Given the description of an element on the screen output the (x, y) to click on. 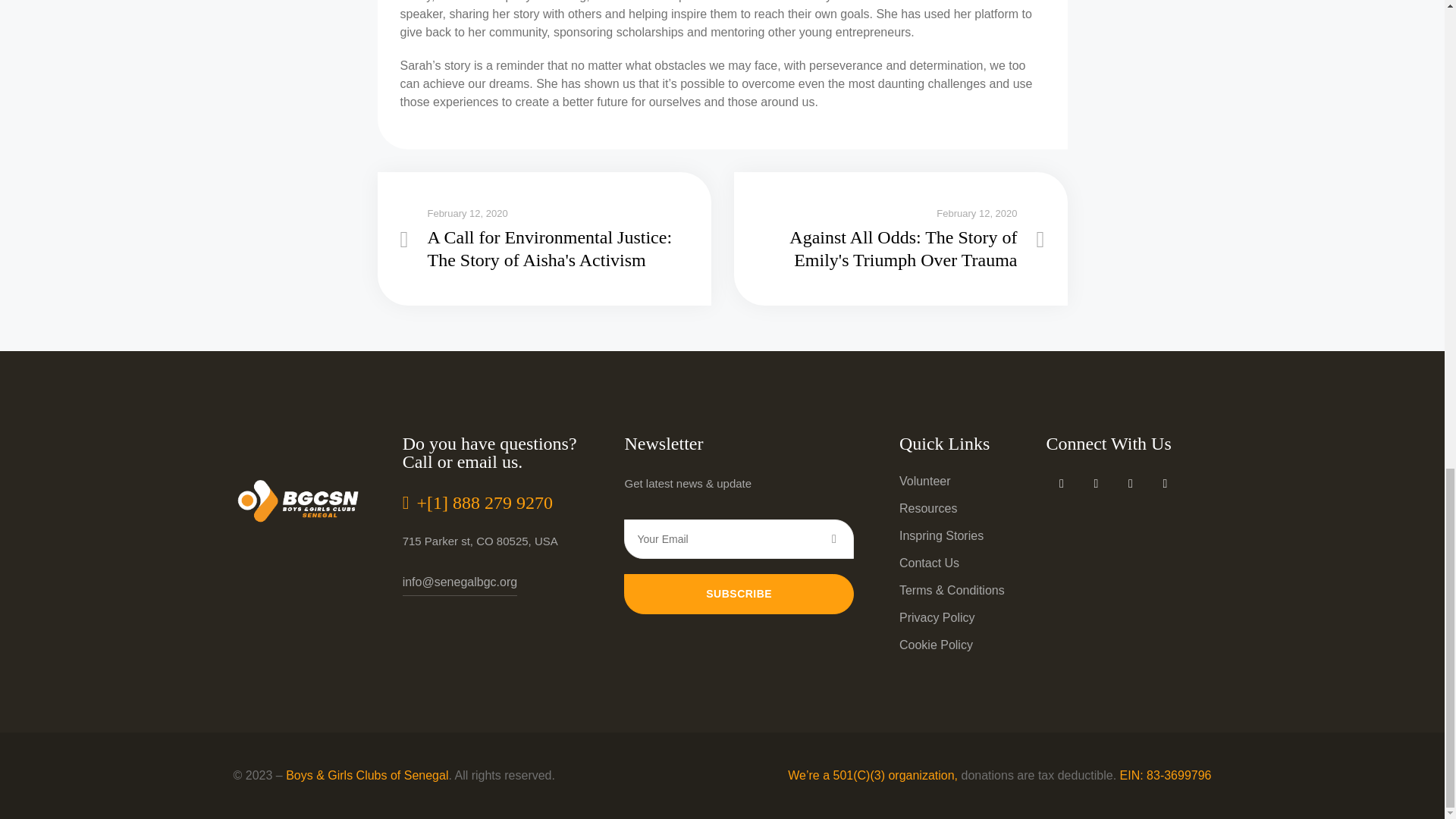
SUBSCRIBE (738, 593)
Volunteer (924, 481)
